Given the description of an element on the screen output the (x, y) to click on. 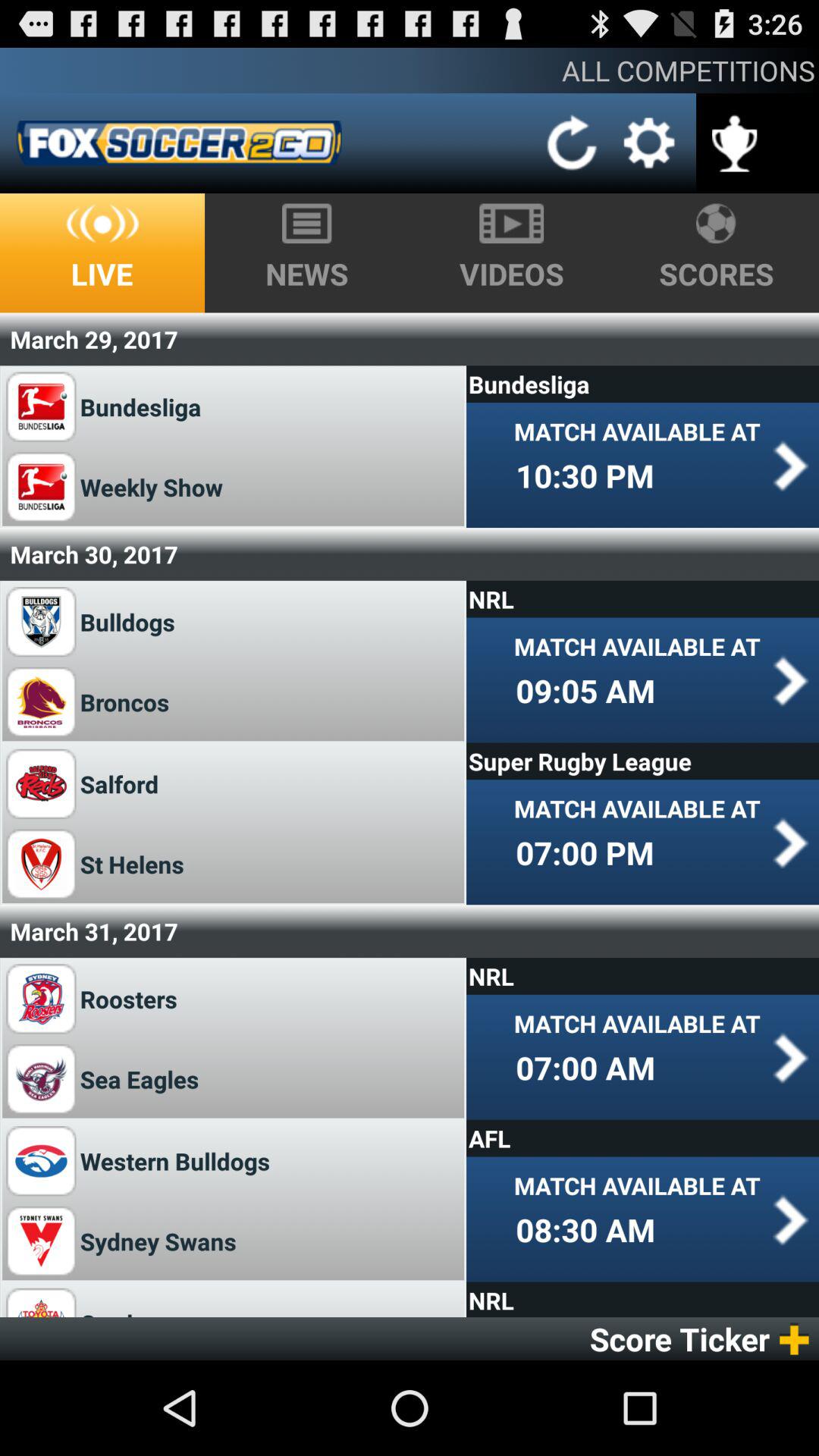
turn off icon to the left of the nrl  icon (128, 998)
